Given the description of an element on the screen output the (x, y) to click on. 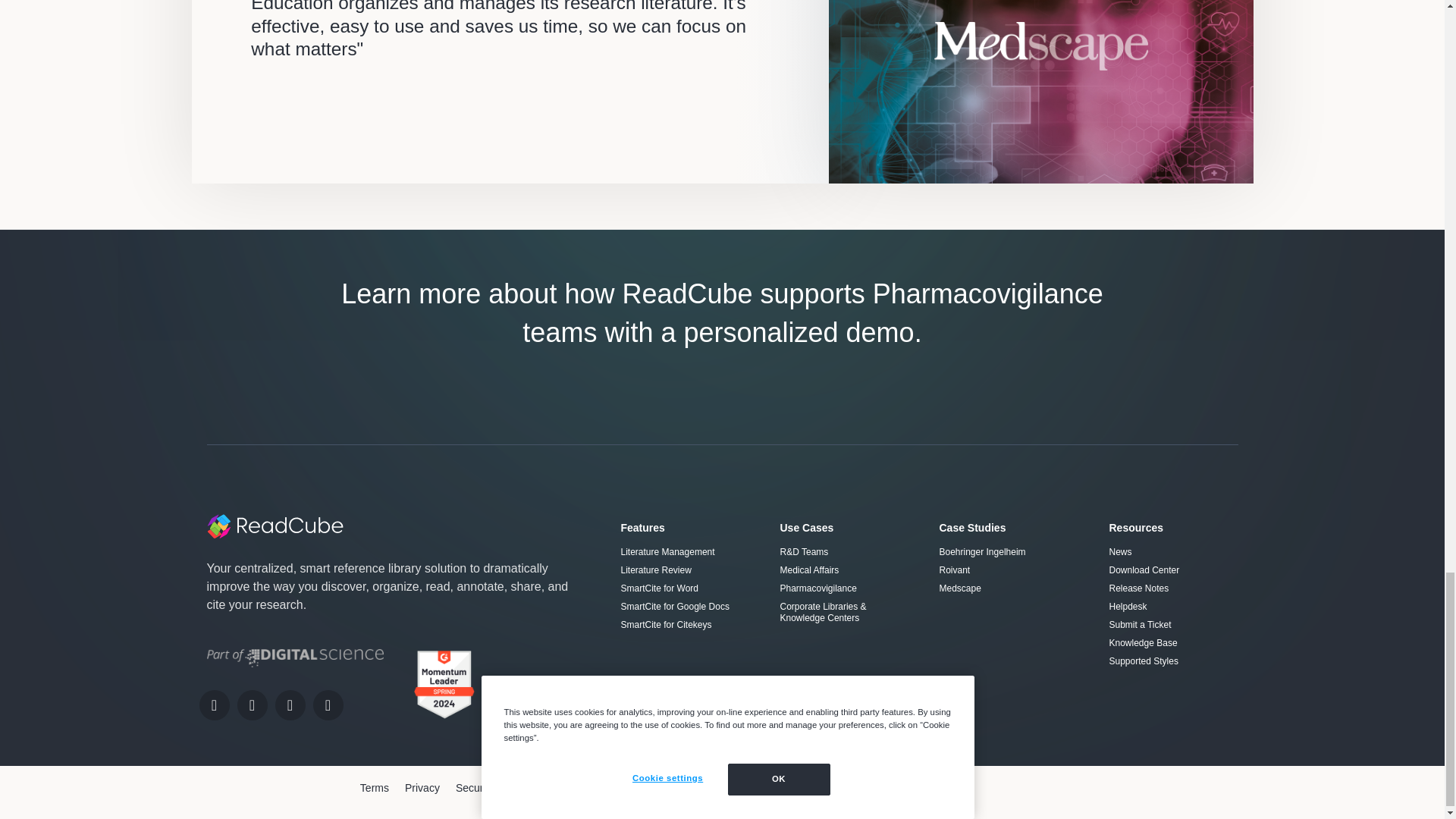
SmartCite for Citekeys (684, 624)
Release Notes (1172, 588)
Boehringer Ingelheim (1008, 552)
Privacy (421, 787)
Helpdesk (1172, 606)
Download Center (1172, 570)
SmartCite for Word (684, 588)
Knowledge Base (1172, 642)
Literature Review (684, 570)
part-of-digital-science 1 (294, 658)
Roivant (1008, 570)
Security Statement (500, 787)
News (1172, 552)
Terms (374, 787)
Data Protection (597, 787)
